Given the description of an element on the screen output the (x, y) to click on. 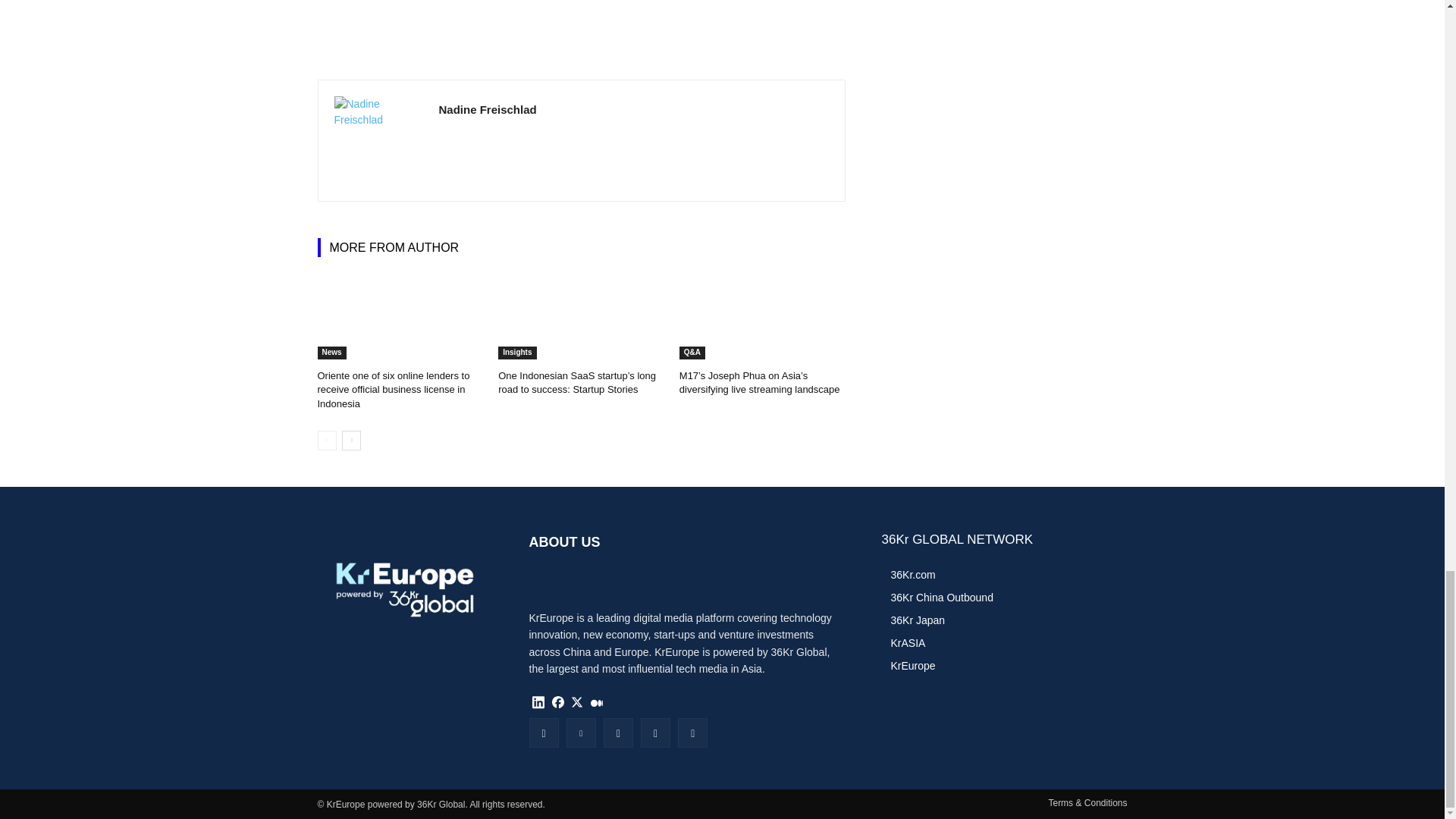
Nadine Freischlad (377, 140)
